Given the description of an element on the screen output the (x, y) to click on. 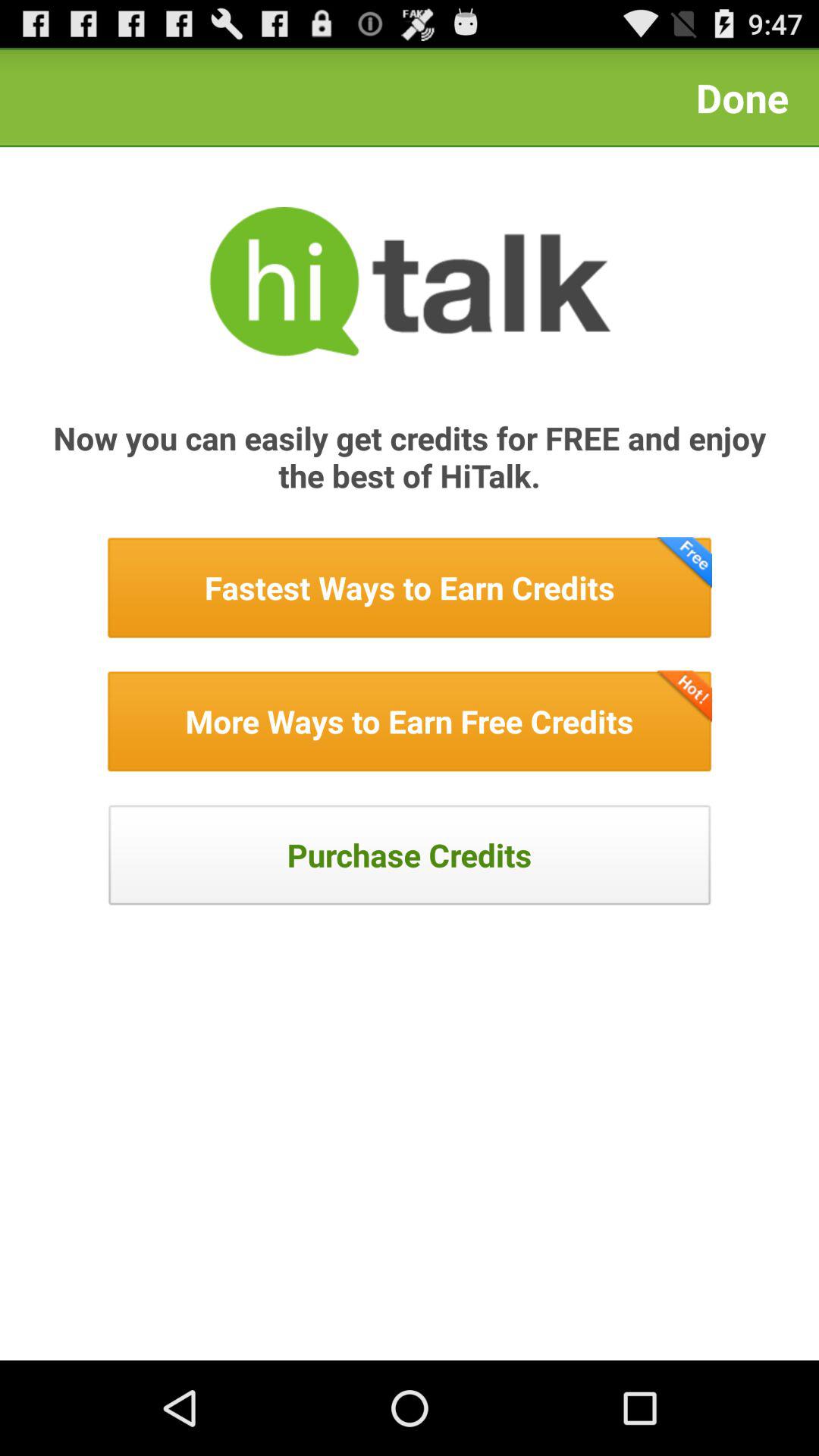
advertisement option (409, 587)
